Given the description of an element on the screen output the (x, y) to click on. 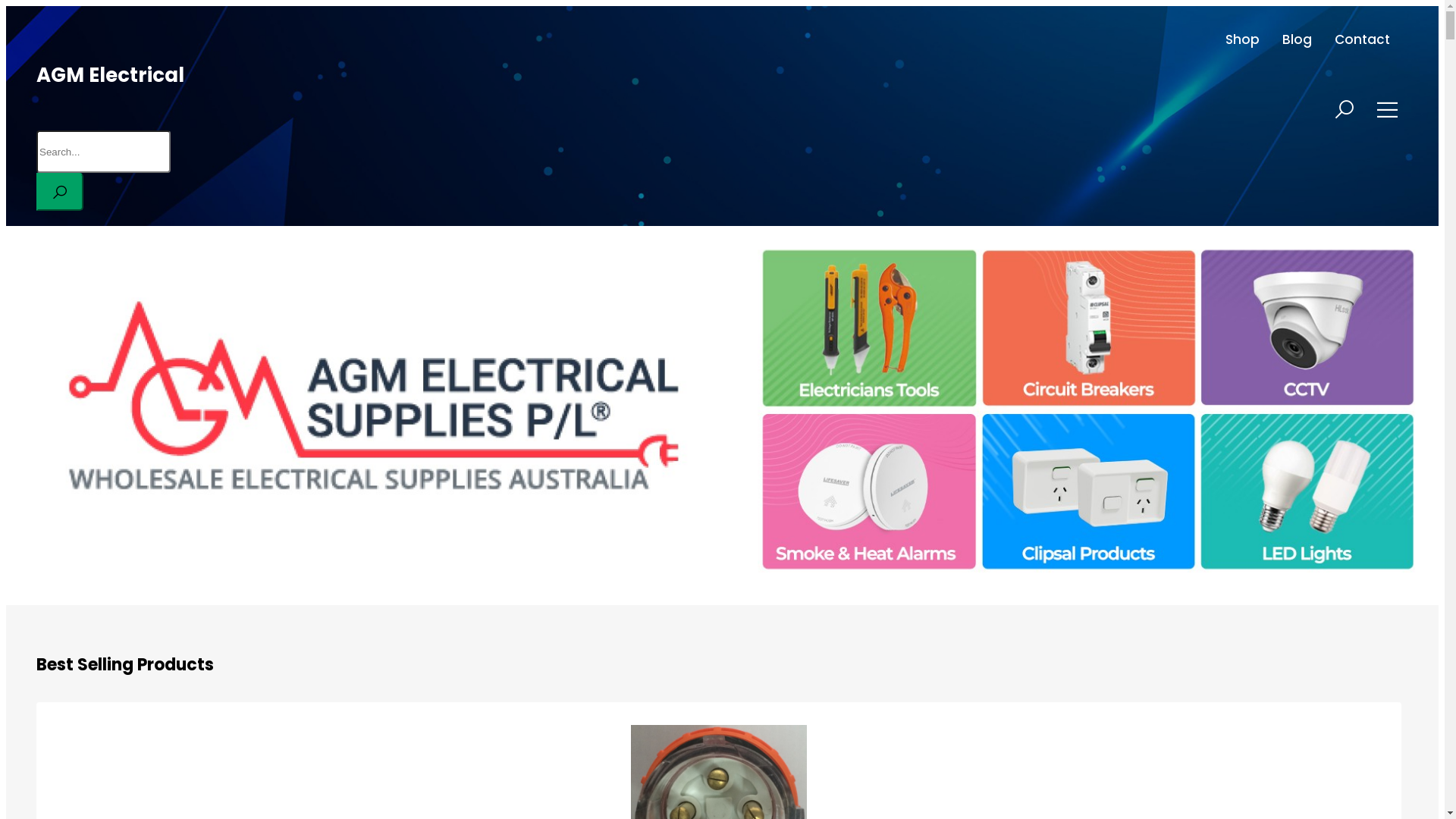
Contact Element type: text (1362, 39)
Shop Element type: text (1242, 39)
Blog Element type: text (1296, 39)
AGM Electrical Element type: text (110, 74)
